Given the description of an element on the screen output the (x, y) to click on. 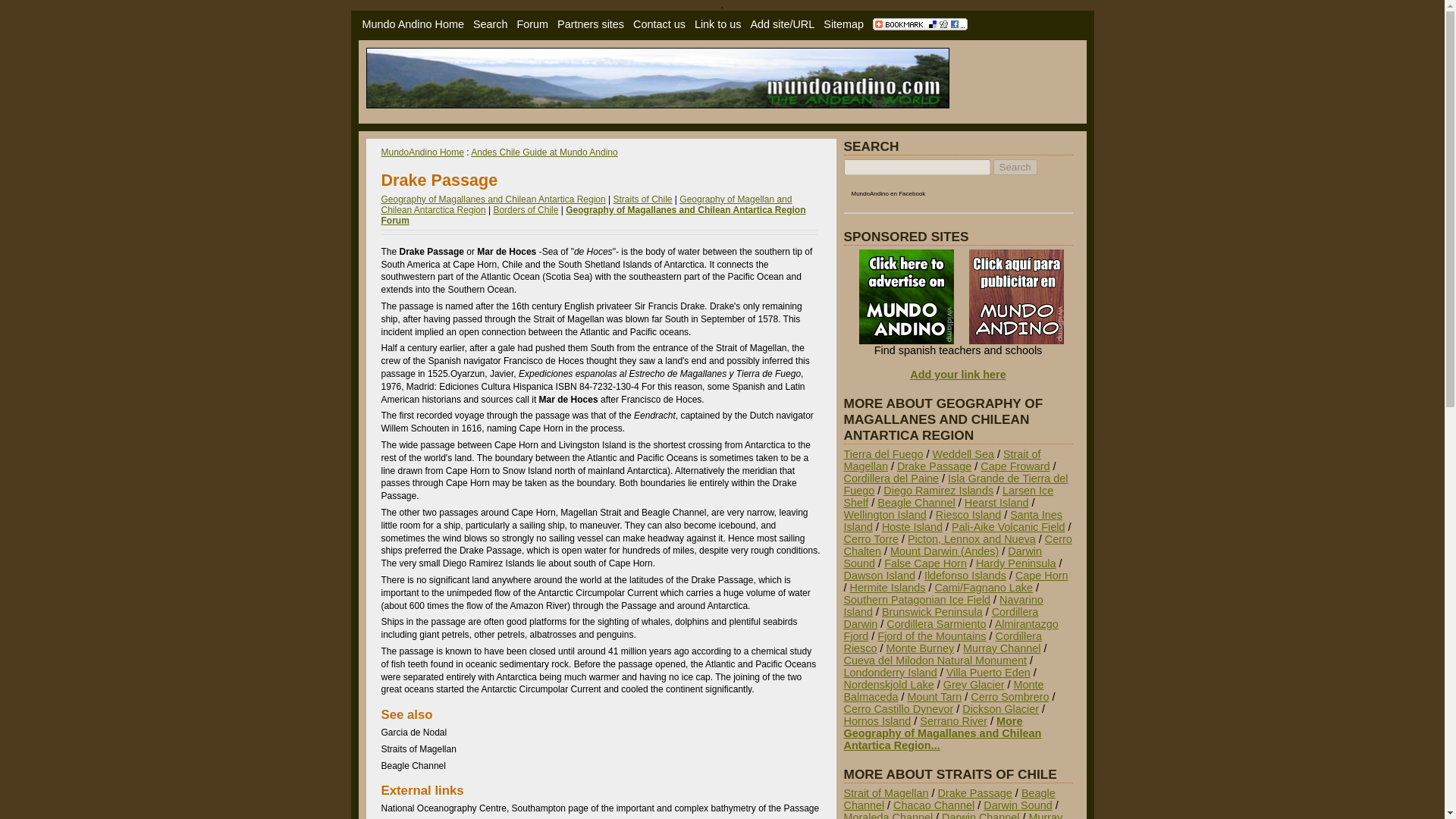
Beagle Channel (916, 502)
Cerro Torre (870, 539)
Search (1014, 166)
Tierra del Fuego (883, 453)
Geography of Magallanes and Chilean Antartica Region (492, 199)
Add your link here (958, 374)
Wellington Island (884, 514)
Pali-Aike Volcanic Field (1008, 526)
Cerro Chalten (957, 545)
Drake Passage (933, 466)
Mundo Andino Home (413, 24)
MundoAndino Home (421, 152)
Picton, Lennox and Nueva (971, 539)
sitemap (843, 24)
Link to us (717, 24)
